Given the description of an element on the screen output the (x, y) to click on. 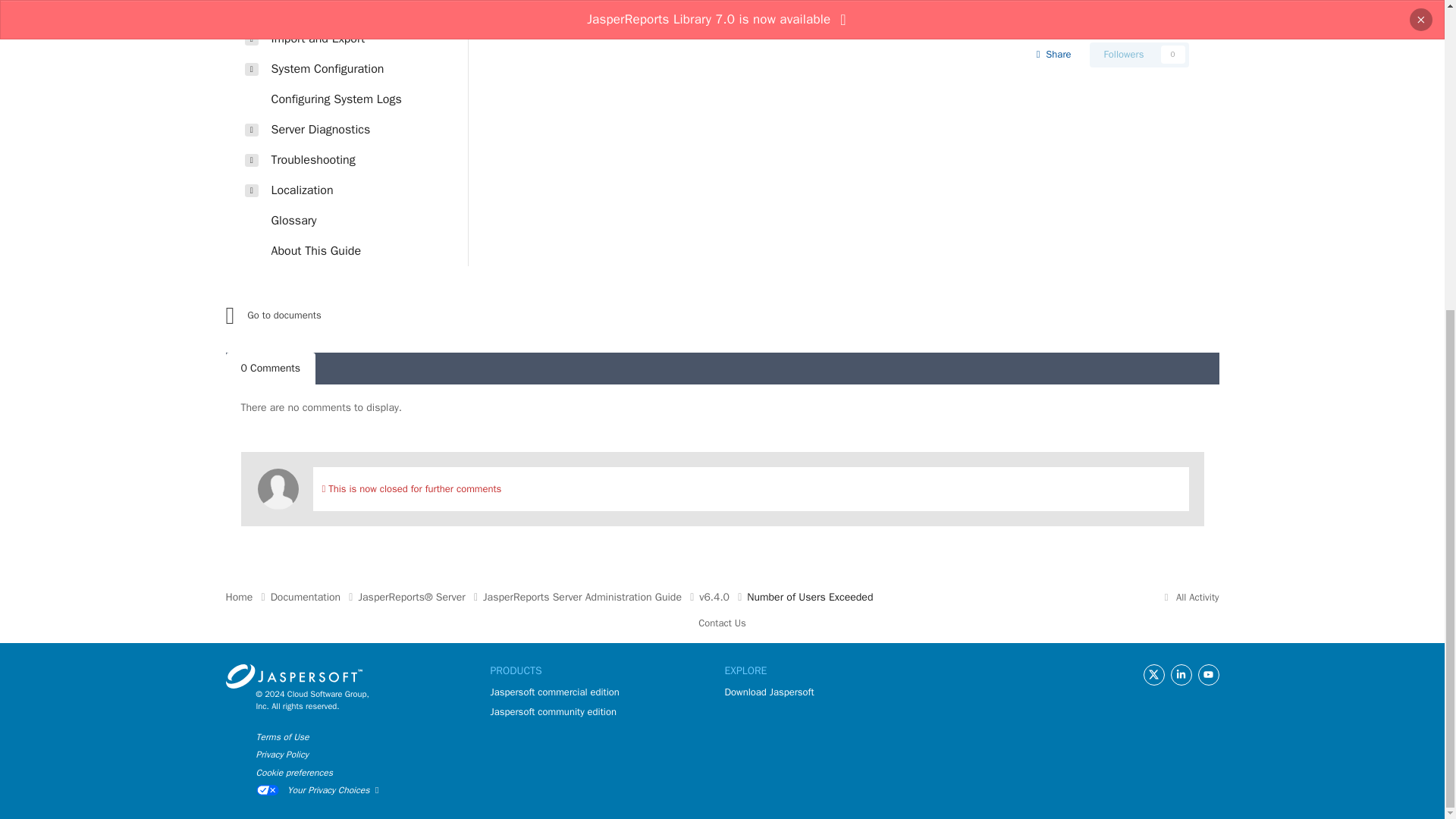
Go to v6.4.0 (358, 315)
0 Comments (270, 368)
Sign in to follow this (1139, 54)
System Configuration (354, 69)
Server Diagnostics (354, 129)
Import and Export (354, 38)
Home (247, 596)
Configuring System Logs (354, 99)
Themes (354, 11)
